Given the description of an element on the screen output the (x, y) to click on. 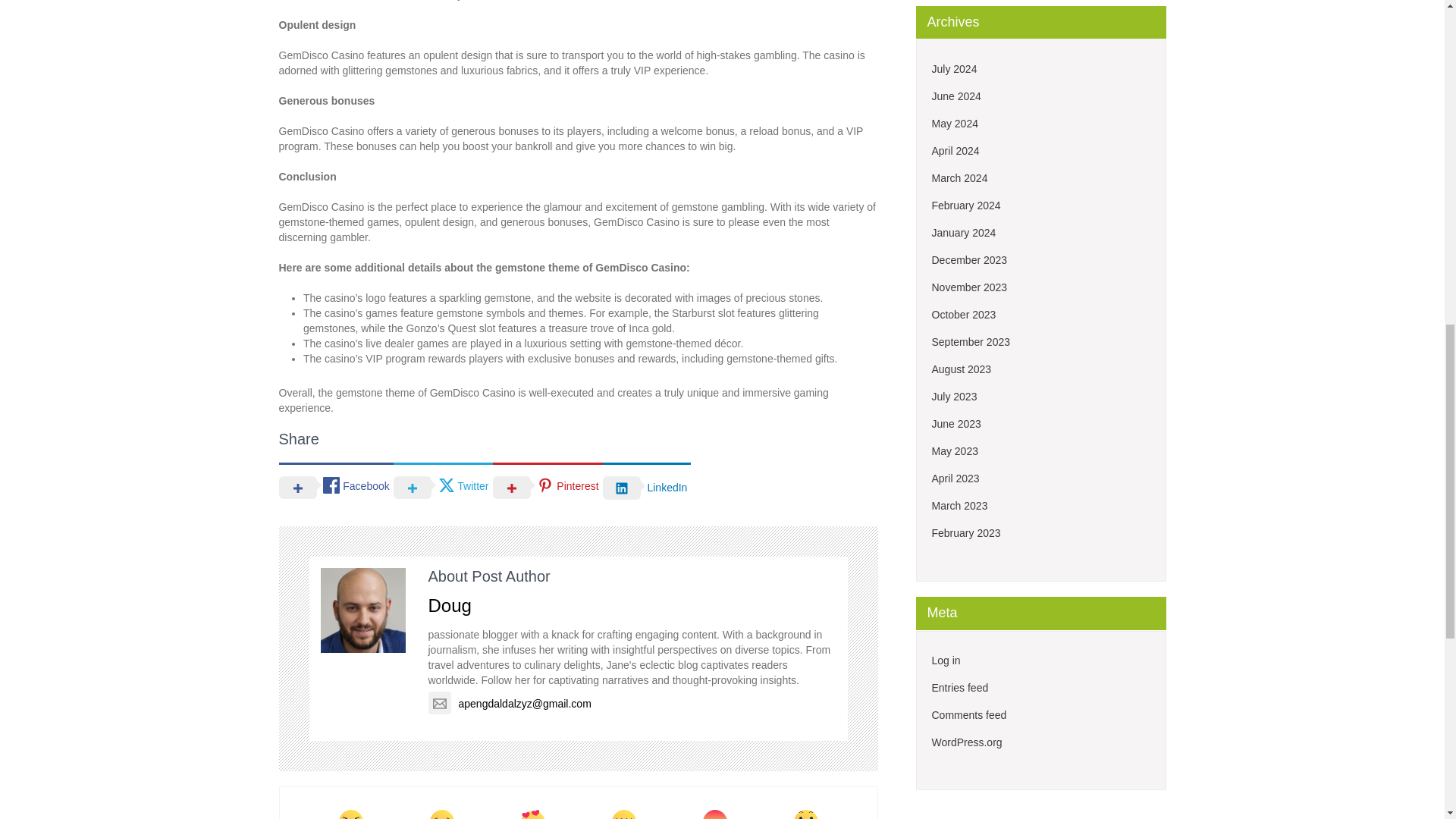
Facebook (336, 486)
Pinterest (547, 486)
Twitter (443, 486)
Doug (449, 605)
LinkedIn (646, 486)
